Given the description of an element on the screen output the (x, y) to click on. 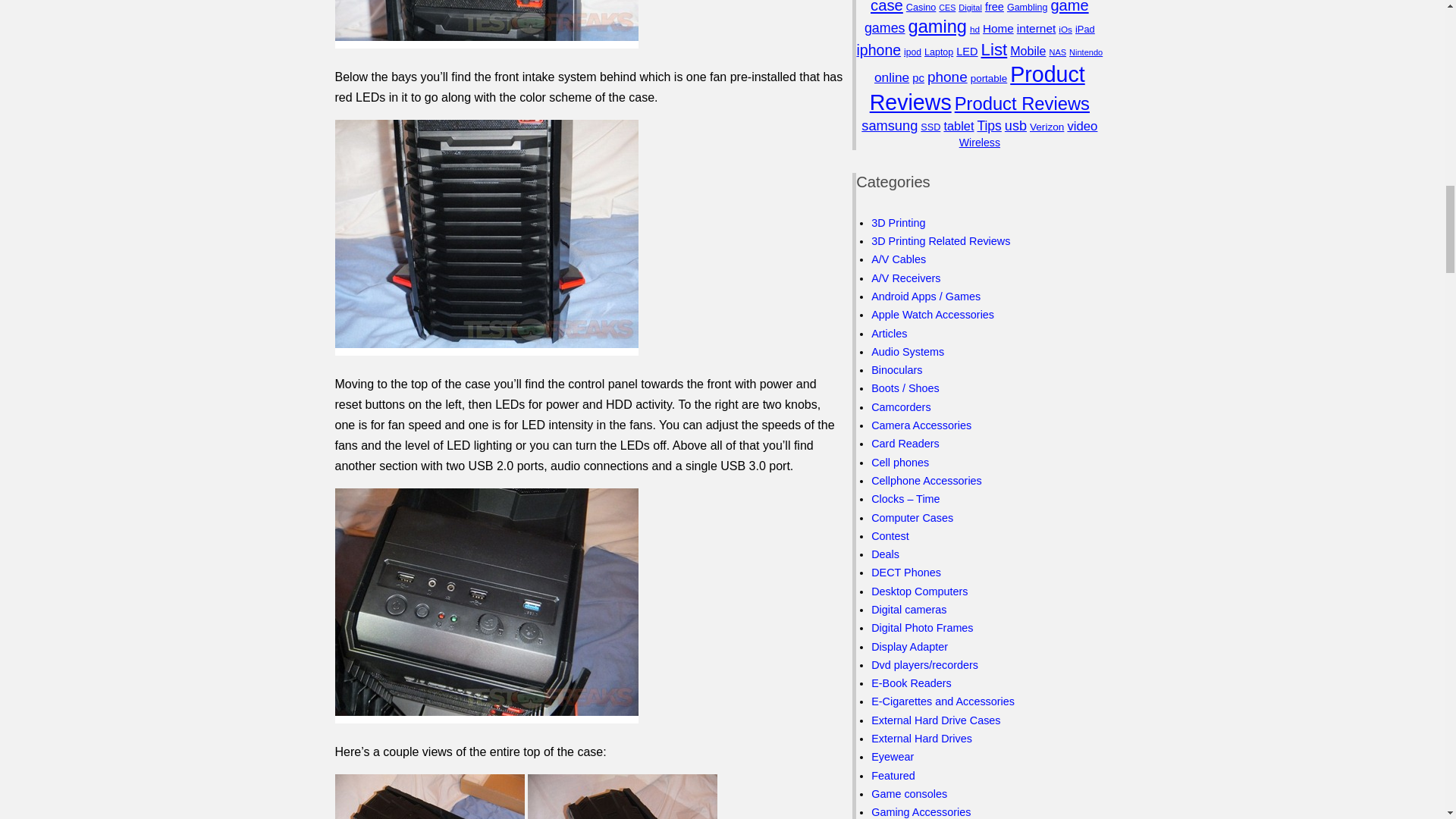
raptor9 (486, 237)
raptor10 (429, 796)
raptor11 (622, 796)
raptor12 (486, 605)
raptor8 (486, 24)
